Given the description of an element on the screen output the (x, y) to click on. 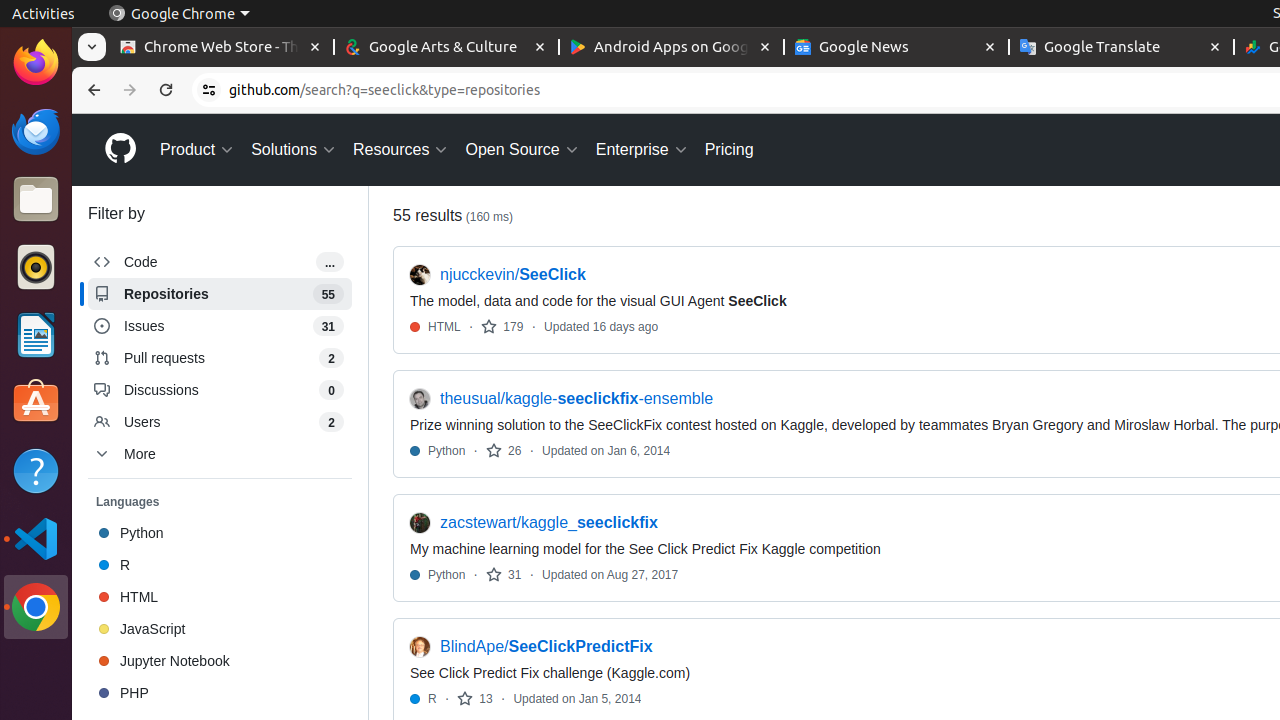
Files Element type: push-button (36, 199)
Forward Element type: push-button (130, 90)
Skip to content Element type: link (72, 114)
Thunderbird Mail Element type: push-button (36, 131)
179 stars Element type: link (502, 326)
